Given the description of an element on the screen output the (x, y) to click on. 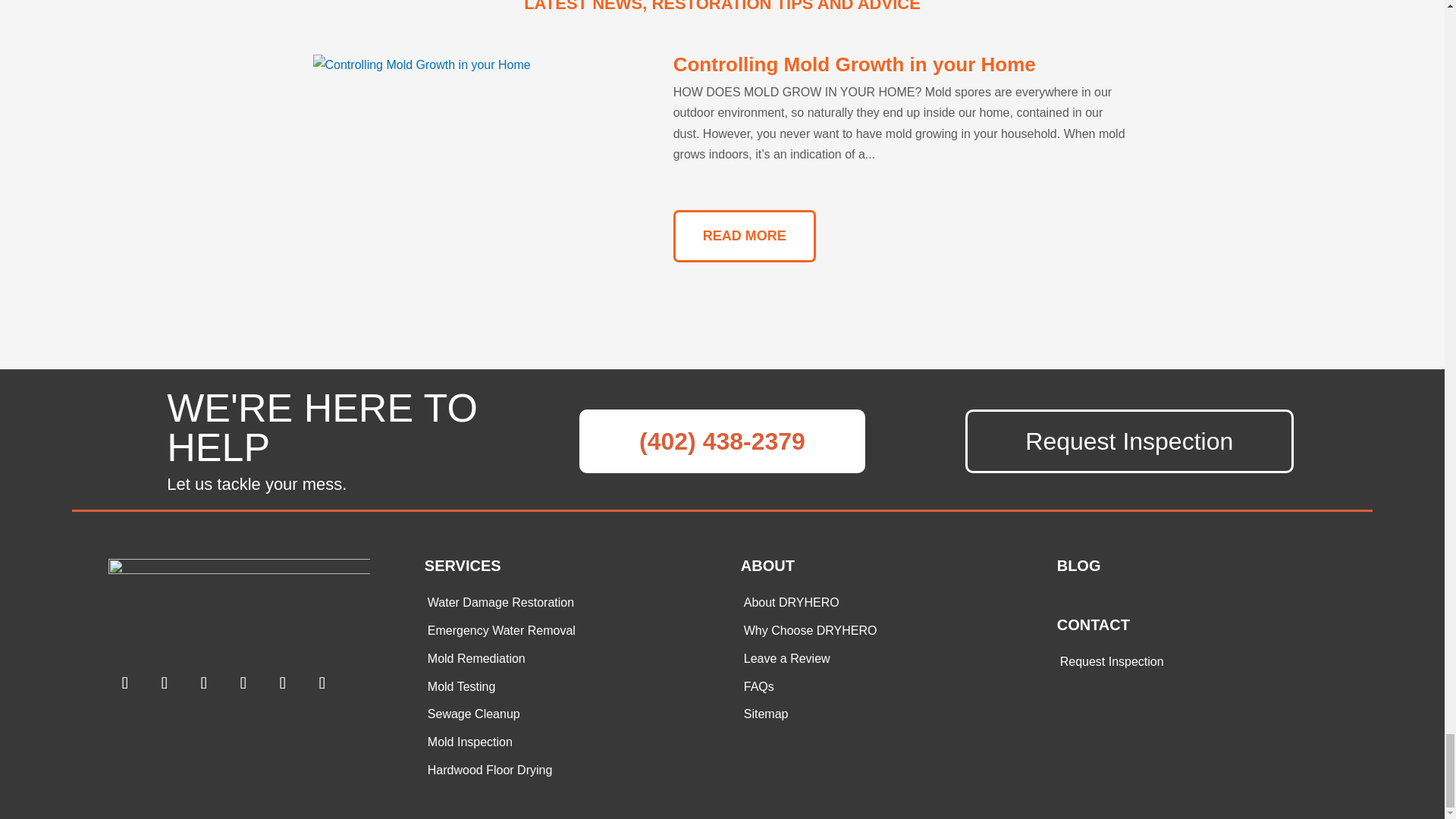
Follow on LinkedIn (282, 683)
Follow on Instagram (164, 683)
Mold Testing (462, 686)
READ MORE (743, 235)
Follow on Yelp (204, 683)
Follow on Youtube (322, 683)
Water Damage Restoration (500, 602)
Emergency Water Removal (501, 630)
Request Inspection (1128, 441)
Mold Remediation (476, 658)
Follow on Twitter (243, 683)
Follow on Facebook (124, 683)
Sewage Cleanup (473, 713)
Controlling Mold Growth in your Home (853, 64)
DryHero Footer Image (239, 603)
